Given the description of an element on the screen output the (x, y) to click on. 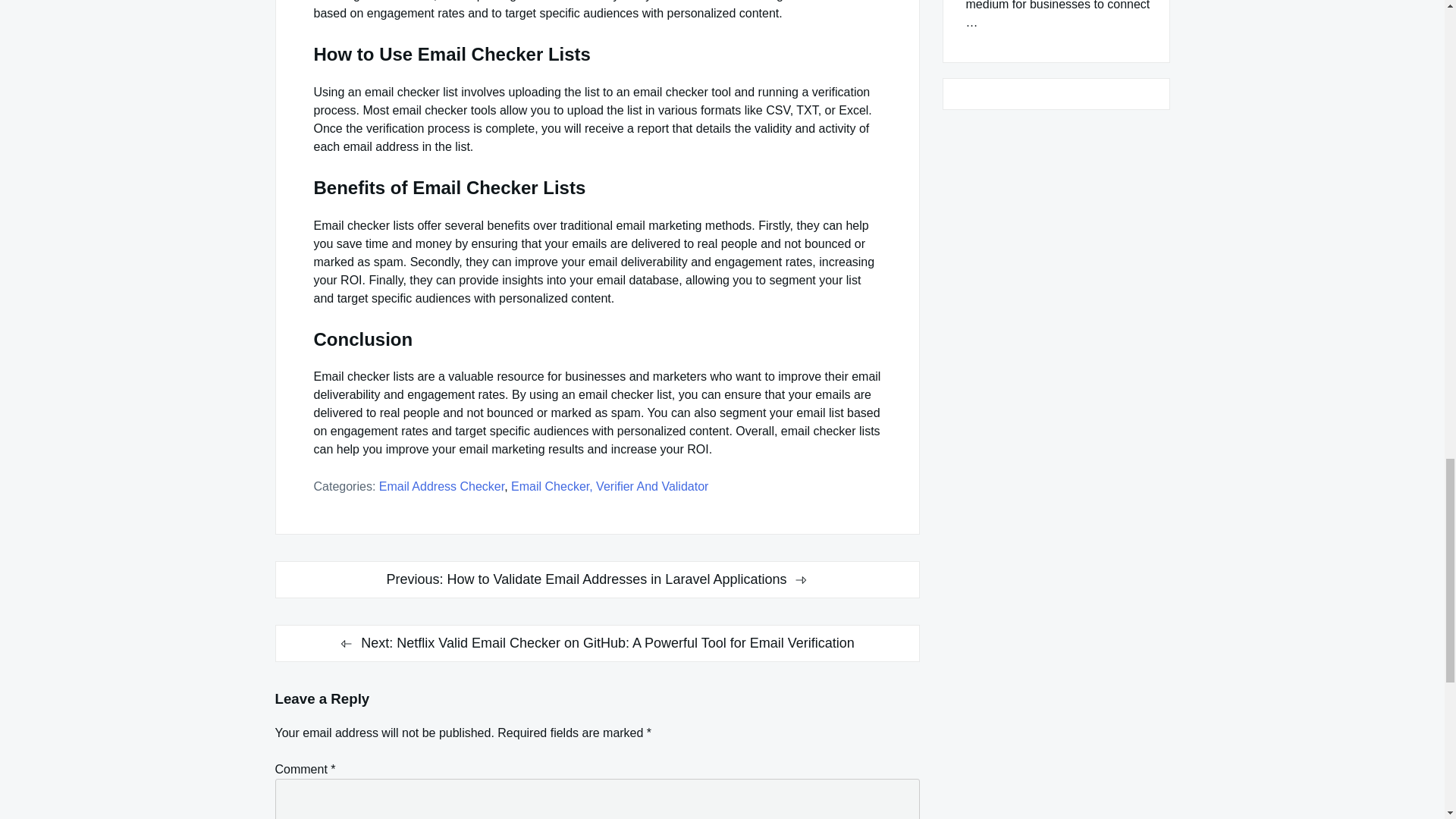
Email Address Checker (440, 486)
Email Checker, Verifier And Validator (609, 486)
